Given the description of an element on the screen output the (x, y) to click on. 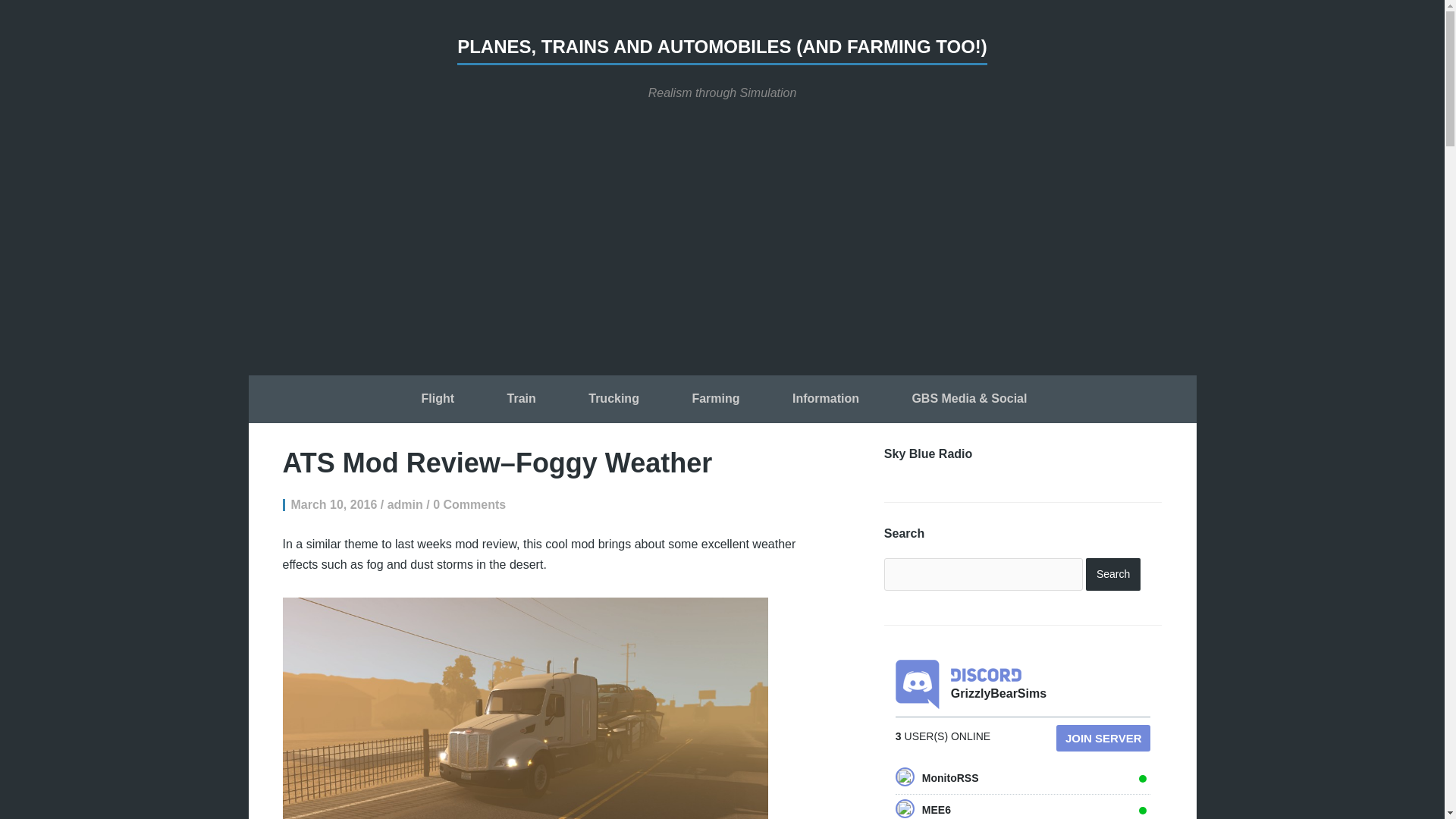
Flight (437, 400)
Train (521, 400)
Search (1113, 573)
Trucking (613, 400)
Search (1113, 573)
JOIN SERVER (1104, 737)
Information (825, 400)
Search (1113, 573)
Farming (715, 400)
